Given the description of an element on the screen output the (x, y) to click on. 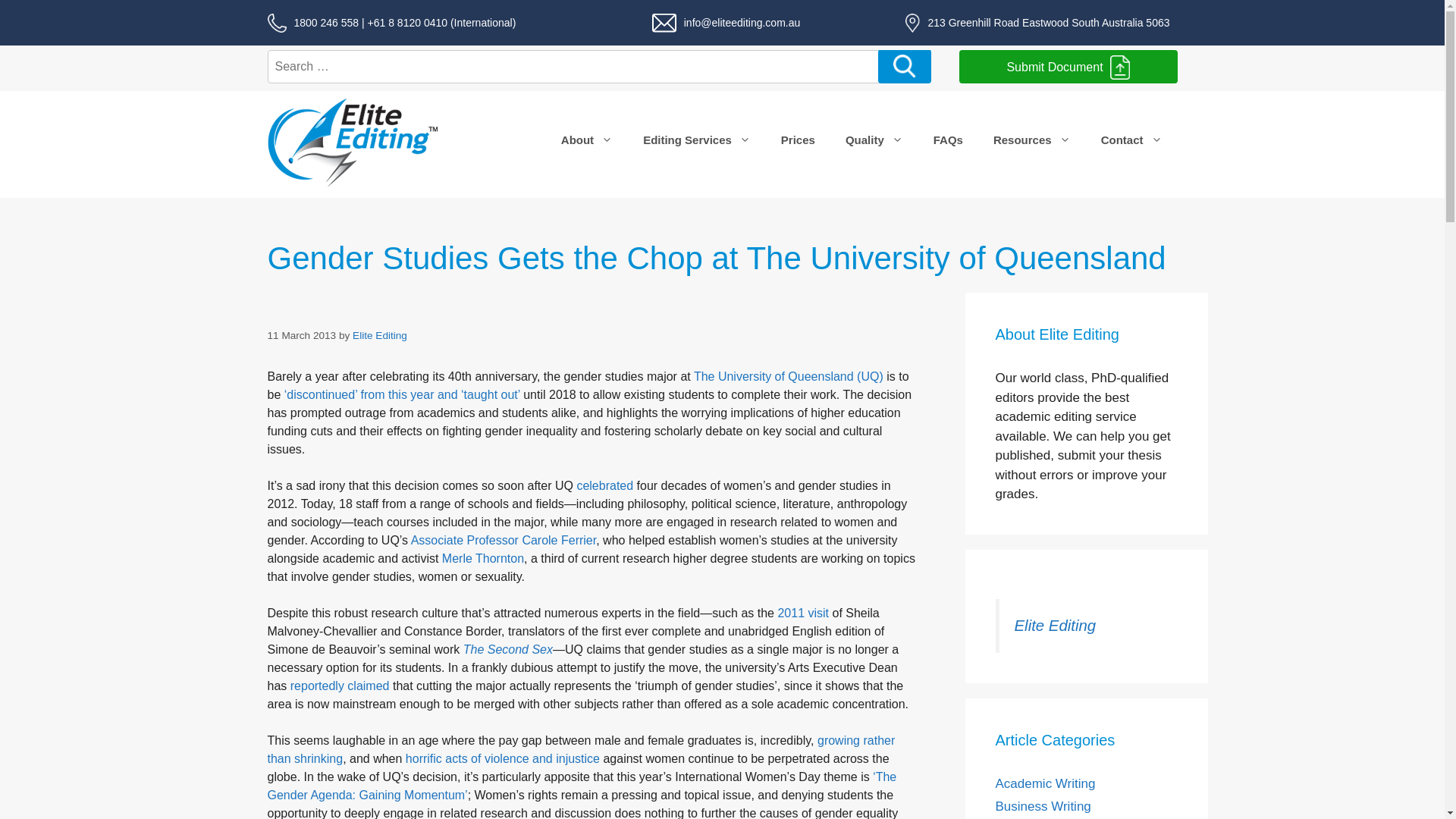
Search for: Element type: hover (573, 66)
Submit Document Element type: text (1067, 66)
FAQs Element type: text (948, 140)
Merle Thornton Element type: text (483, 558)
growing rather than shrinking Element type: text (580, 749)
The University of Queensland (UQ) Element type: text (788, 376)
Associate Professor Carole Ferrier Element type: text (503, 539)
Contact Element type: text (1131, 140)
2011 visit Element type: text (802, 612)
The Second Sex Element type: text (507, 649)
Quality Element type: text (874, 140)
Editing Services Element type: text (696, 140)
Search Element type: text (904, 66)
Elite Editing Element type: text (1055, 625)
Prices Element type: text (797, 140)
Academic Writing Element type: text (1044, 783)
About Element type: text (586, 140)
reportedly claimed Element type: text (339, 685)
celebrated Element type: text (604, 485)
Business Writing Element type: text (1042, 806)
horrific acts of violence and injustice Element type: text (502, 758)
Resources Element type: text (1031, 140)
Elite Editing Element type: text (379, 335)
